Given the description of an element on the screen output the (x, y) to click on. 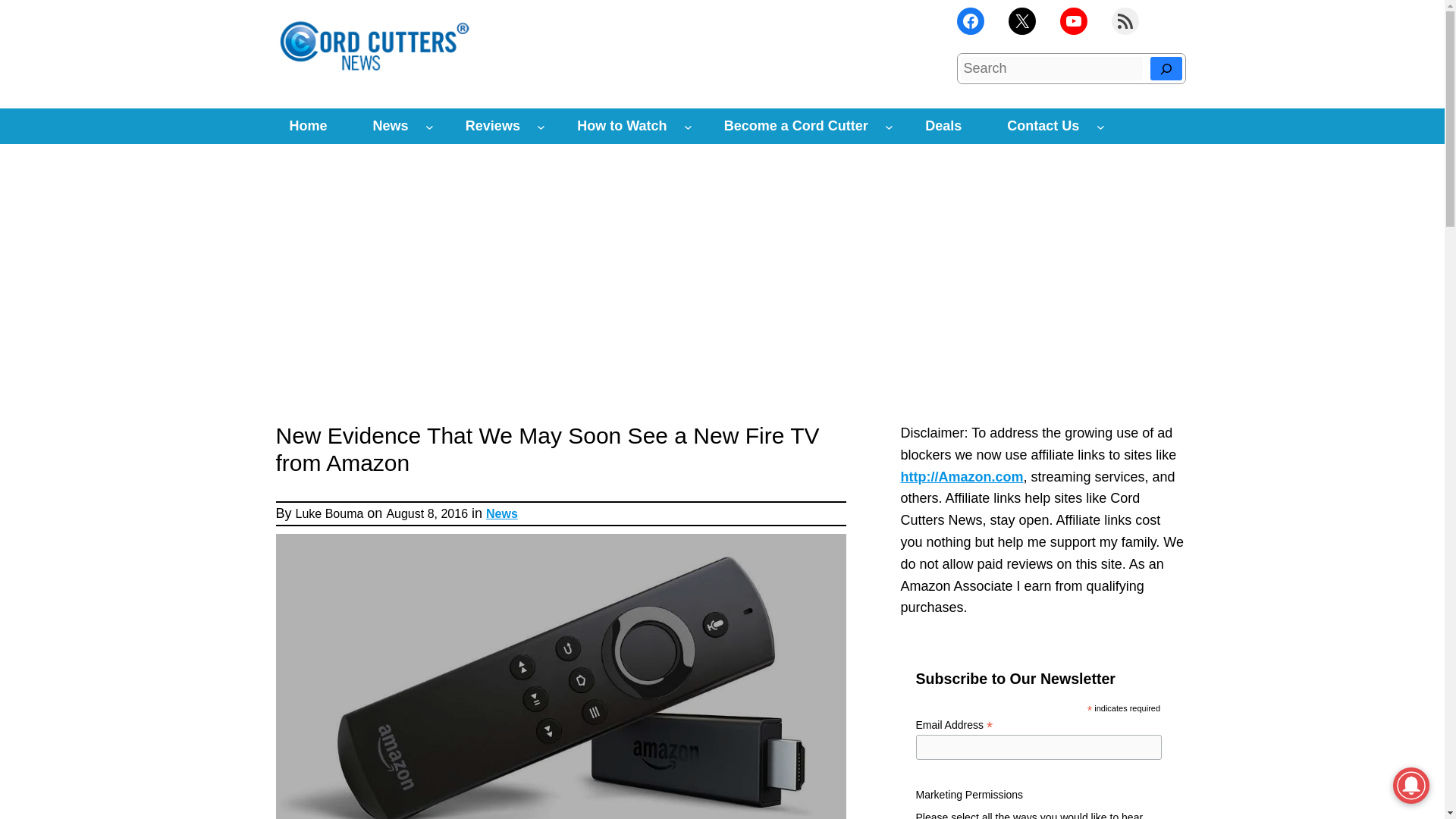
News (390, 126)
Facebook (970, 21)
YouTube (1073, 21)
Home (308, 126)
RSS Feed (1125, 21)
X (1022, 21)
Reviews (492, 126)
